Given the description of an element on the screen output the (x, y) to click on. 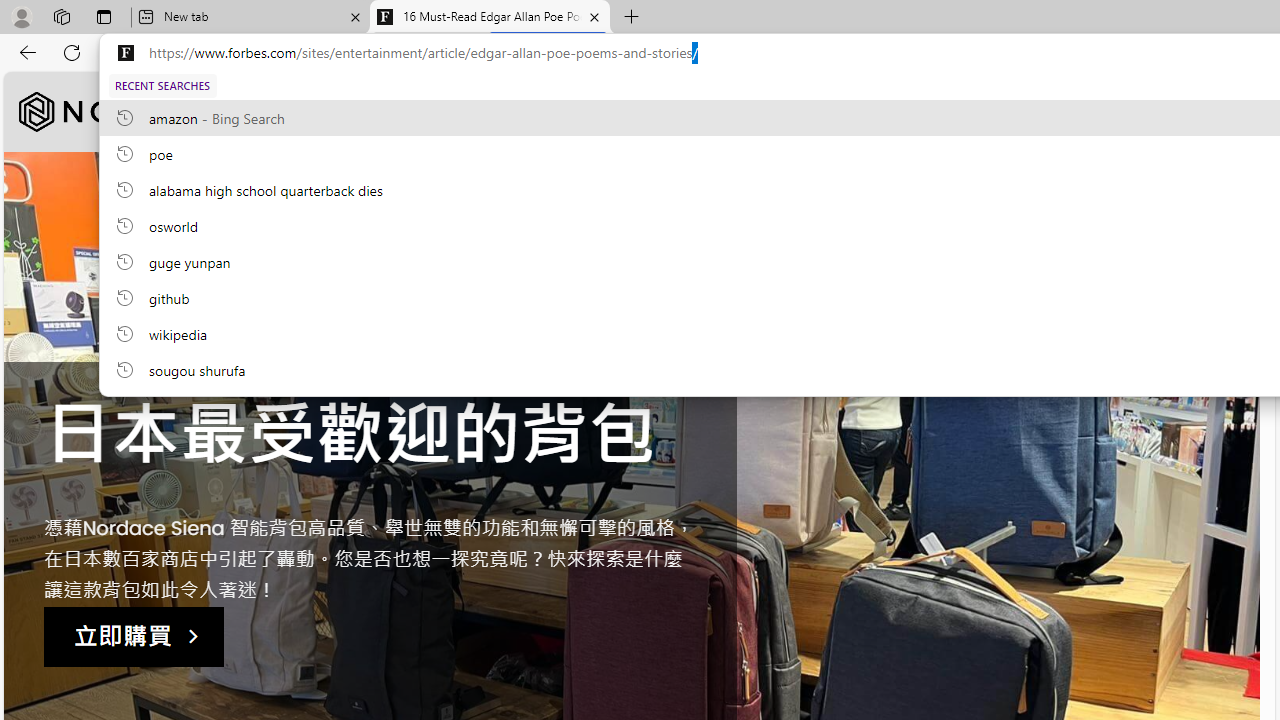
16 Must-Read Edgar Allan Poe Poems And Short Stories (490, 17)
